Given the description of an element on the screen output the (x, y) to click on. 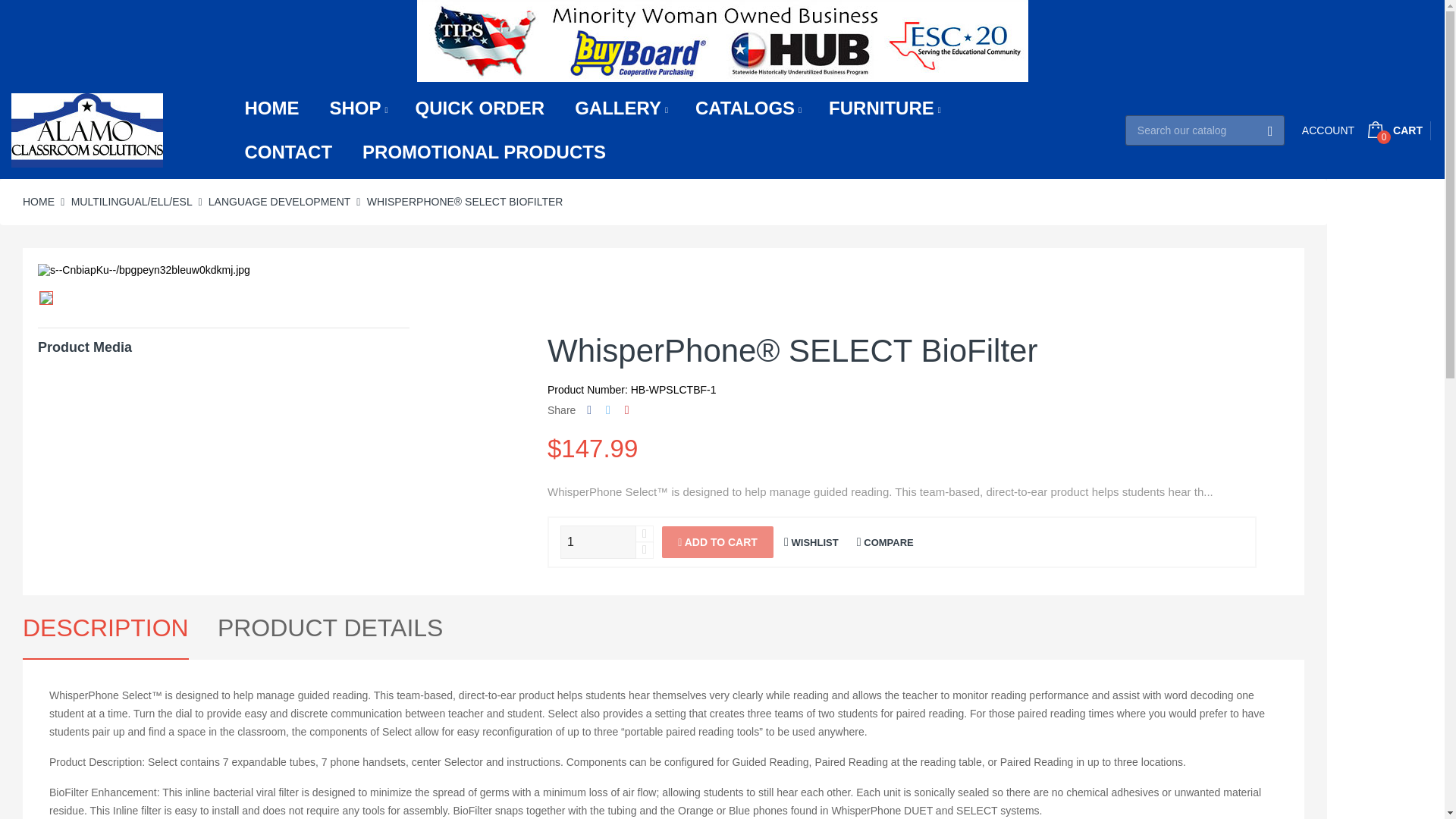
Tweet (607, 409)
Share (588, 409)
Pinterest (626, 409)
HOME (271, 108)
Add to Compare (885, 542)
Add to Wishlist (811, 542)
1 (598, 541)
GALLERY (620, 108)
QUICK ORDER (479, 108)
Alamo Classroom Solutions (87, 130)
Account (1327, 130)
SHOP (356, 108)
